Given the description of an element on the screen output the (x, y) to click on. 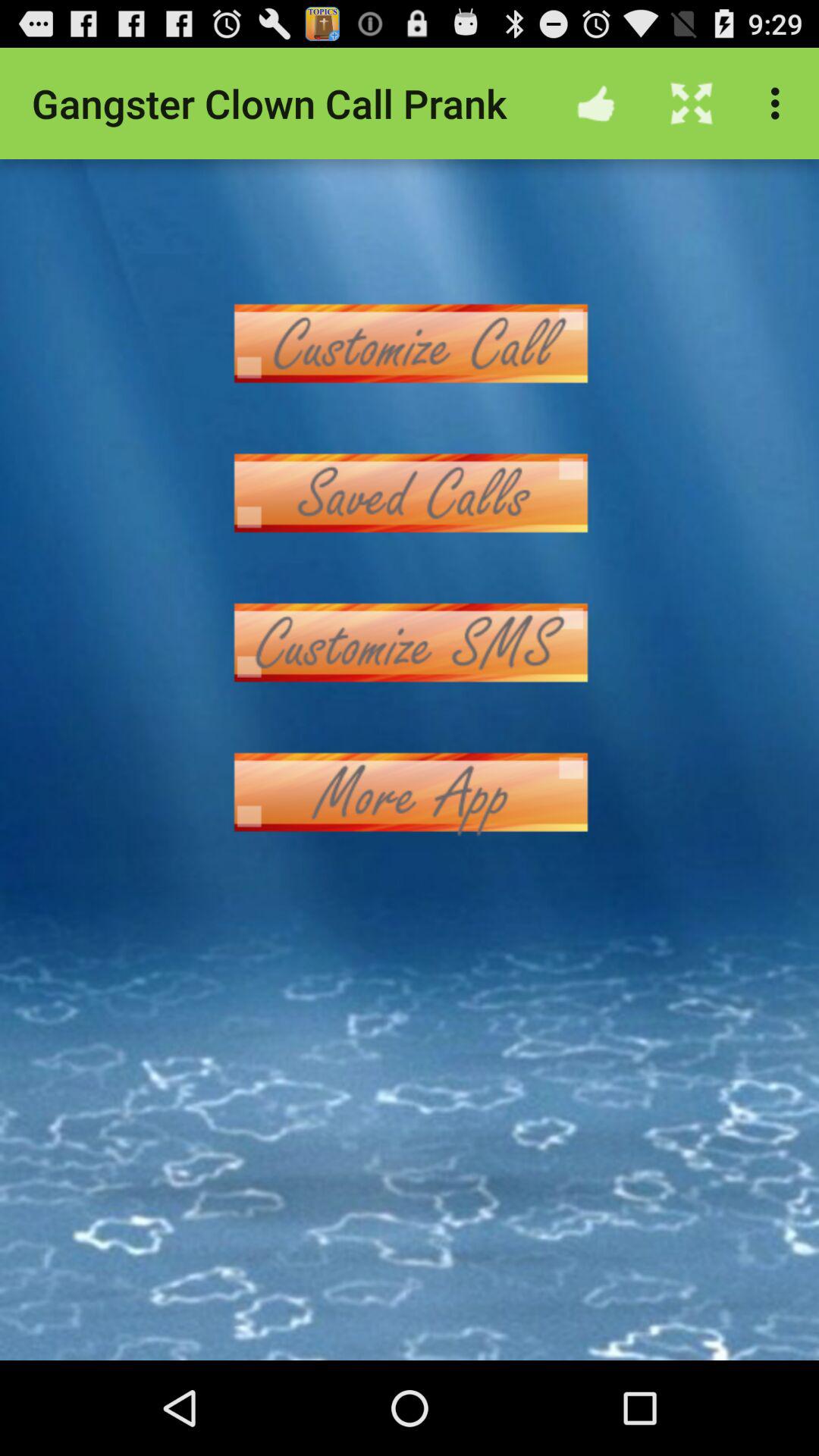
customize sms button (409, 642)
